Given the description of an element on the screen output the (x, y) to click on. 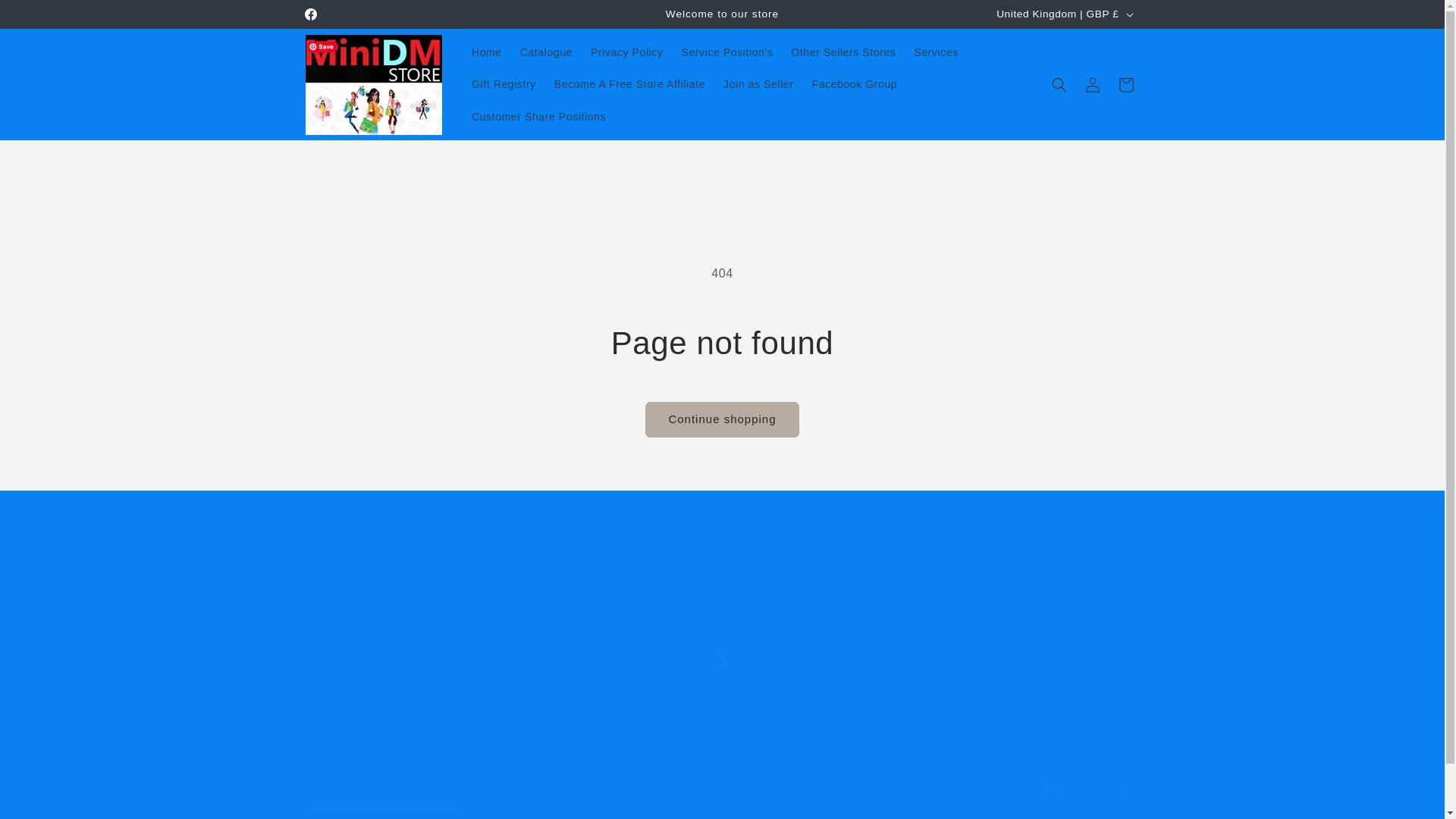
Join as Seller (758, 83)
Catalogue (545, 51)
Service Position's (727, 51)
Continue shopping (721, 419)
Gift Registry (503, 83)
Refund policy (768, 594)
Contact Detalis (858, 594)
Service Position's (569, 594)
Skip to content (45, 17)
Terms of Service (674, 594)
Facebook Group (855, 83)
Home (487, 51)
Become A Free Store Affiliate (629, 83)
Log in (1091, 84)
Other Sellers Stores (842, 51)
